Given the description of an element on the screen output the (x, y) to click on. 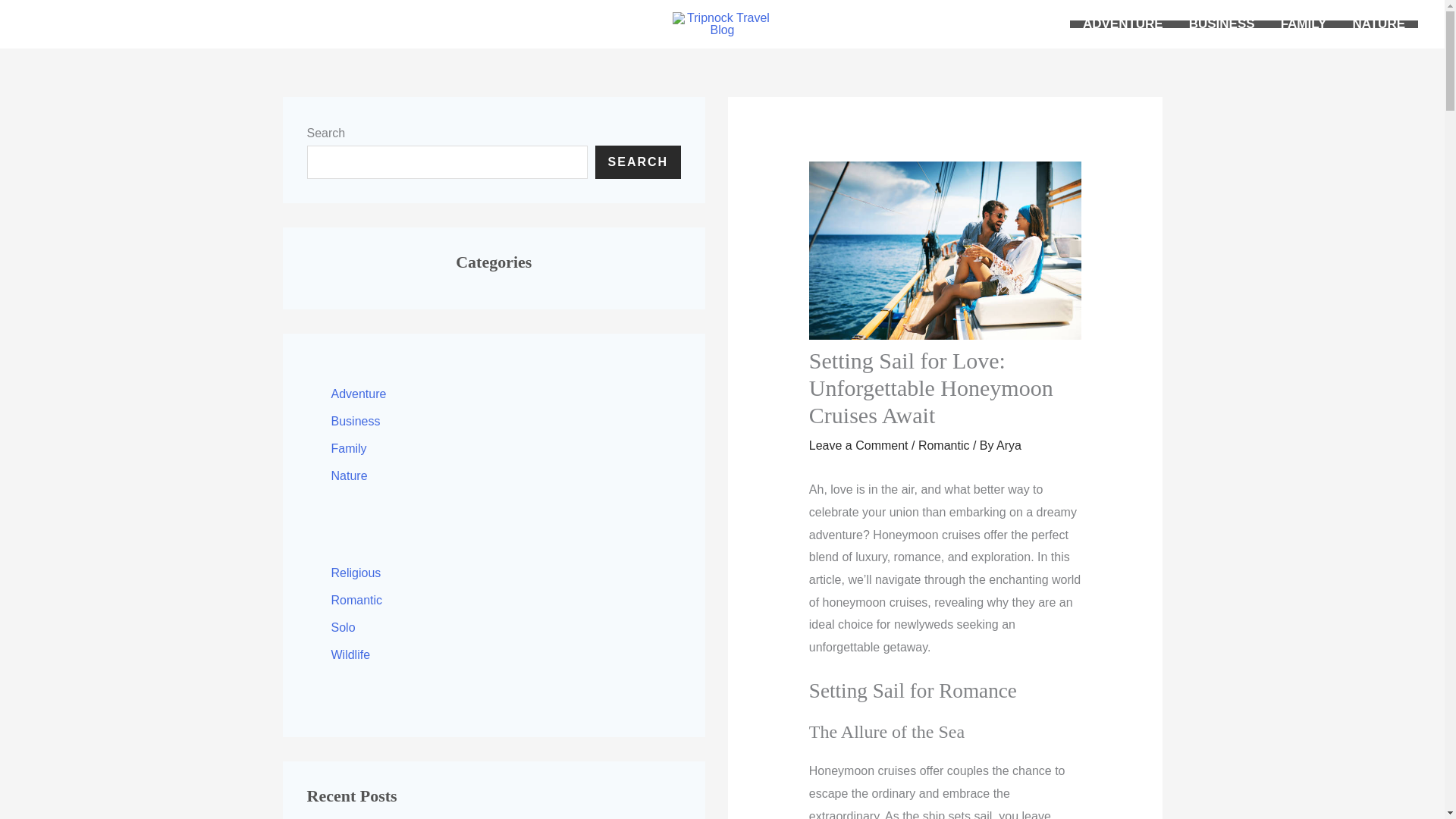
Leave a Comment (858, 445)
Arya (1008, 445)
Family (348, 448)
Adventure (357, 393)
Wildlife (349, 654)
ROMANTIC (460, 23)
Nature (348, 475)
WILDLIFE (614, 23)
NATURE (1378, 23)
FAMILY (1303, 23)
Romantic (943, 445)
RELIGIOUS (364, 23)
BUSINESS (1222, 23)
Romantic (355, 599)
Solo (342, 626)
